Given the description of an element on the screen output the (x, y) to click on. 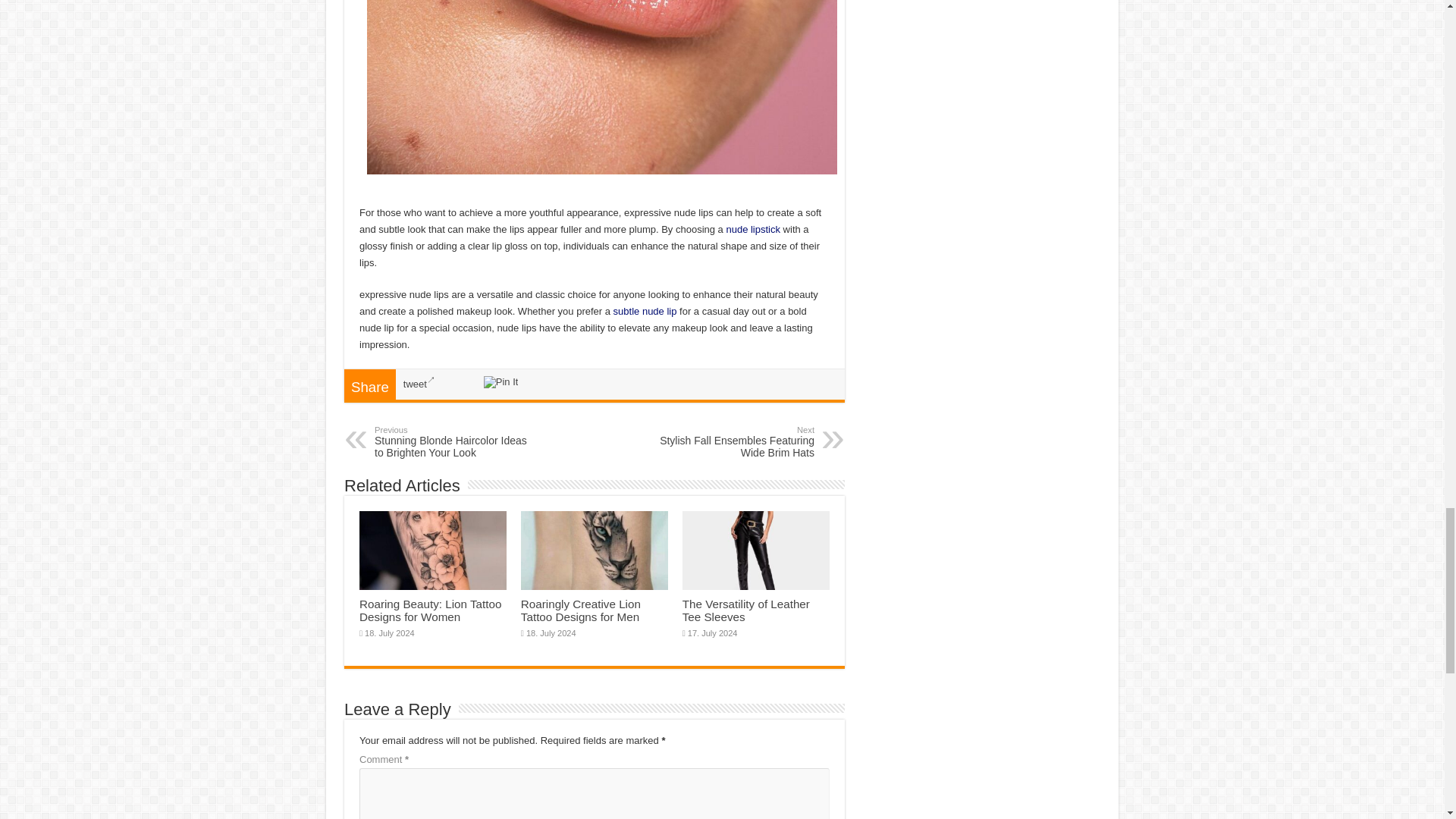
Pin It (500, 381)
subtle nude lip (644, 310)
tweet (419, 383)
Enhance Your Green Eyes with These Stunning Makeup Looks (736, 441)
Roaring Beauty: Lion Tattoo Designs for Women (752, 229)
Roaringly Creative Lion Tattoo Designs for Men (429, 610)
nude lipstick (580, 610)
The Versatility of Leather Tee Sleeves (752, 229)
